Given the description of an element on the screen output the (x, y) to click on. 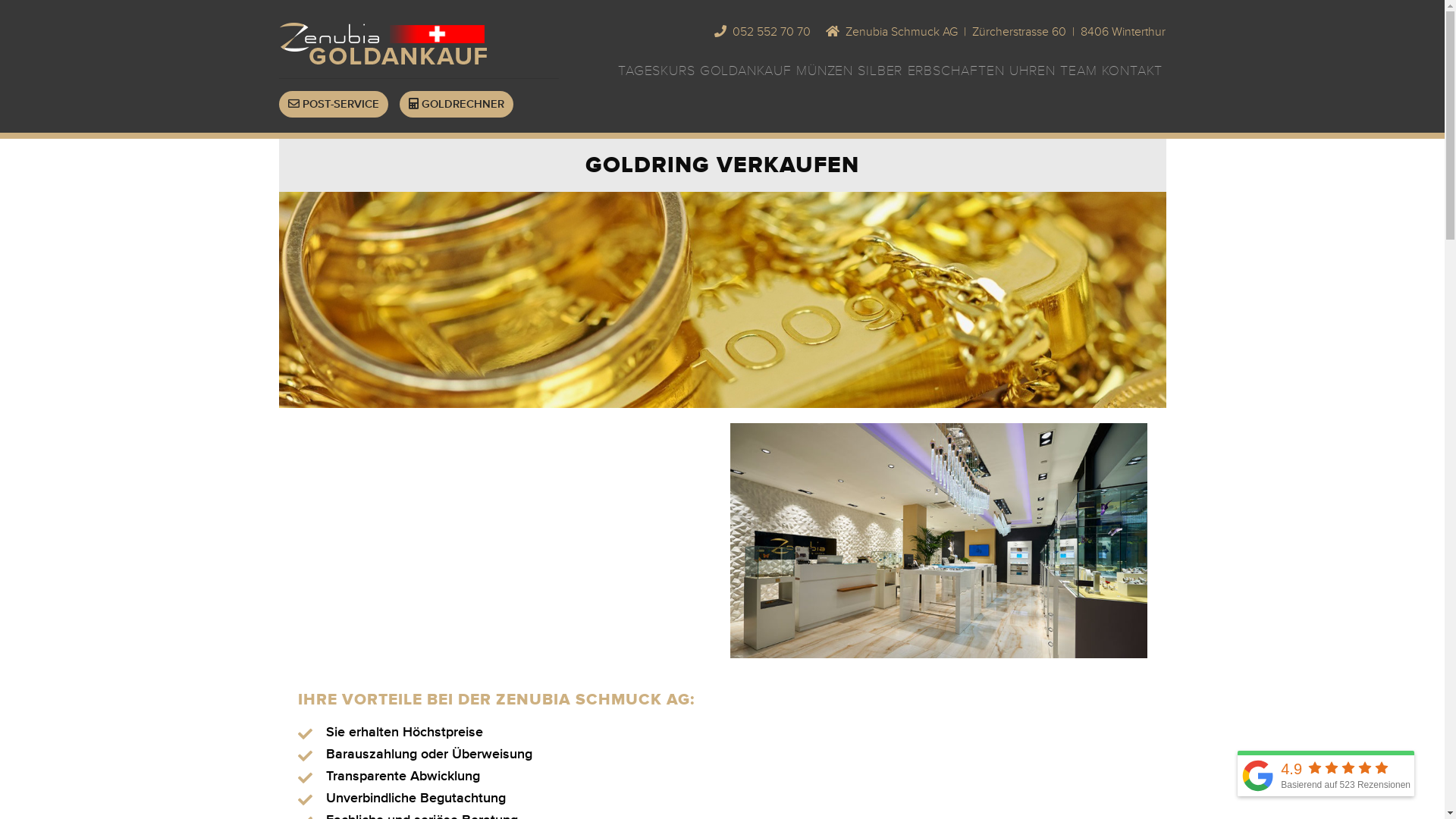
 GOLDRECHNER Element type: text (455, 104)
GOLDANKAUF Element type: text (745, 70)
UHREN Element type: text (1032, 70)
KONTAKT Element type: text (1132, 70)
POST-SERVICE Element type: text (333, 104)
TEAM Element type: text (1078, 70)
ERBSCHAFTEN Element type: text (955, 70)
TAGESKURS Element type: text (656, 70)
SILBER Element type: text (879, 70)
